Given the description of an element on the screen output the (x, y) to click on. 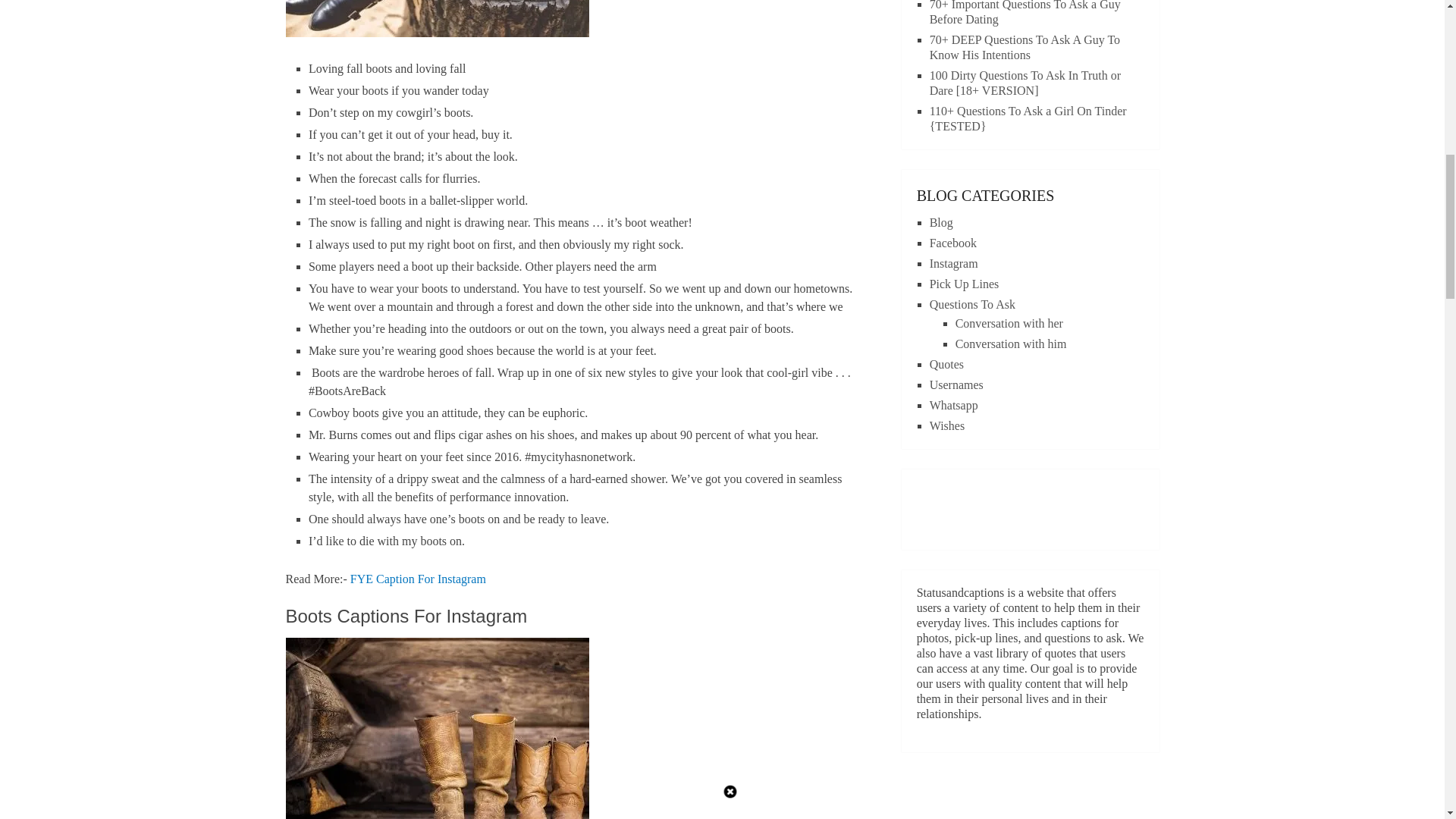
FYE Caption For Instagram (418, 577)
